Given the description of an element on the screen output the (x, y) to click on. 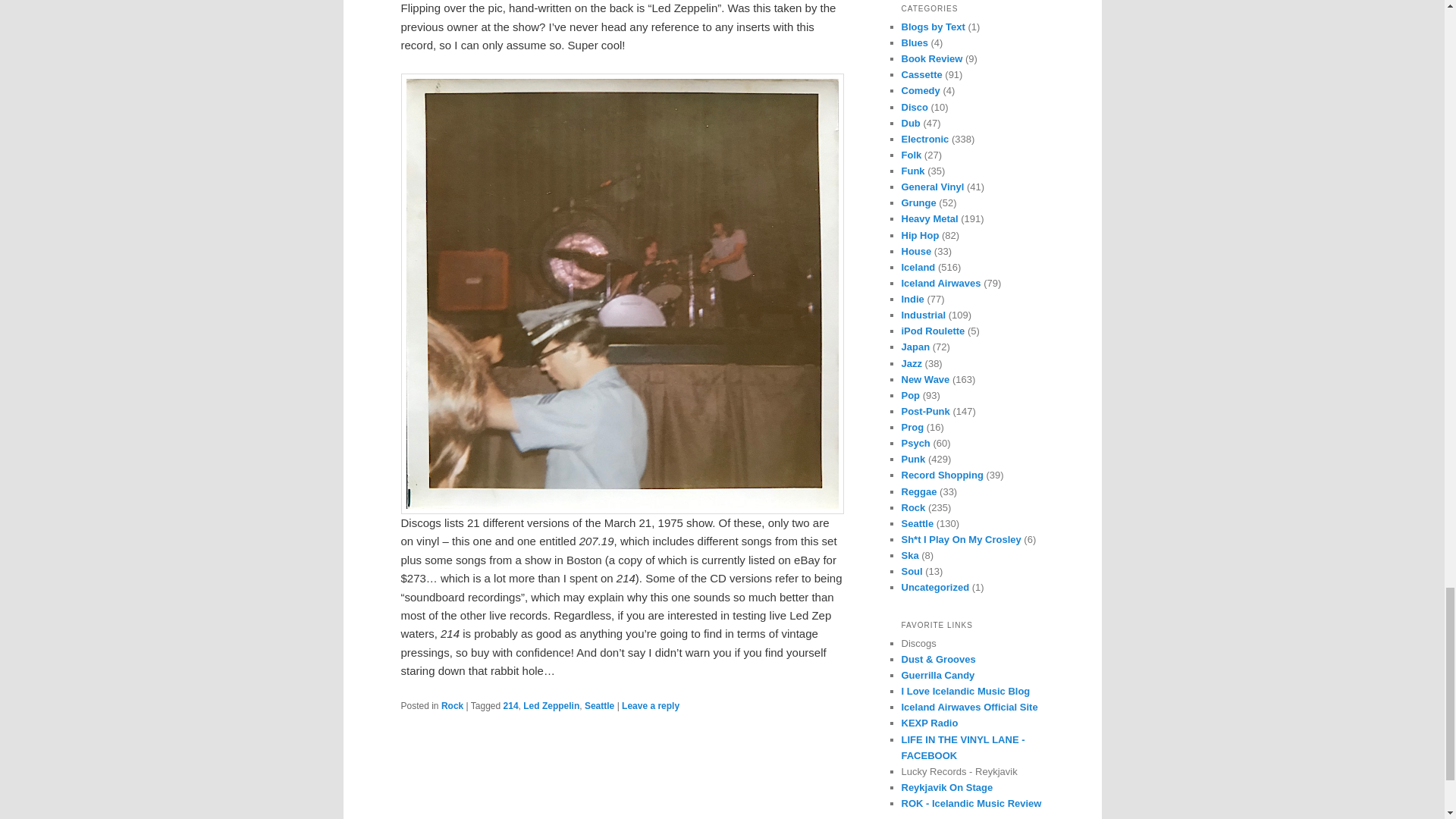
Rock (452, 706)
Seattle (599, 706)
Follow the blog on Facebook! (963, 747)
Led Zeppelin (550, 706)
Leave a reply (650, 706)
214 (510, 706)
Posts about vinyl in general (932, 186)
